Given the description of an element on the screen output the (x, y) to click on. 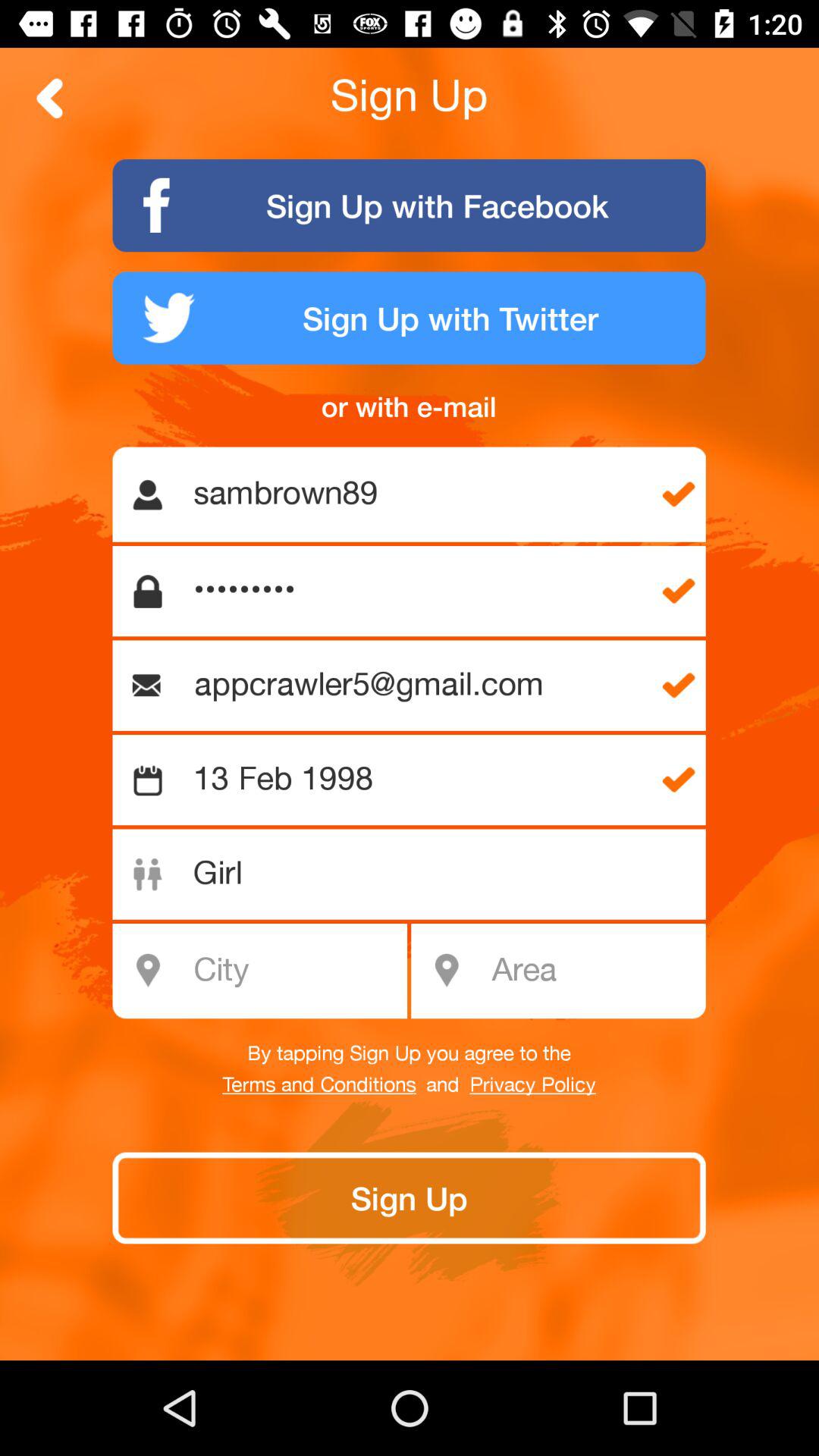
user 's city (268, 970)
